Given the description of an element on the screen output the (x, y) to click on. 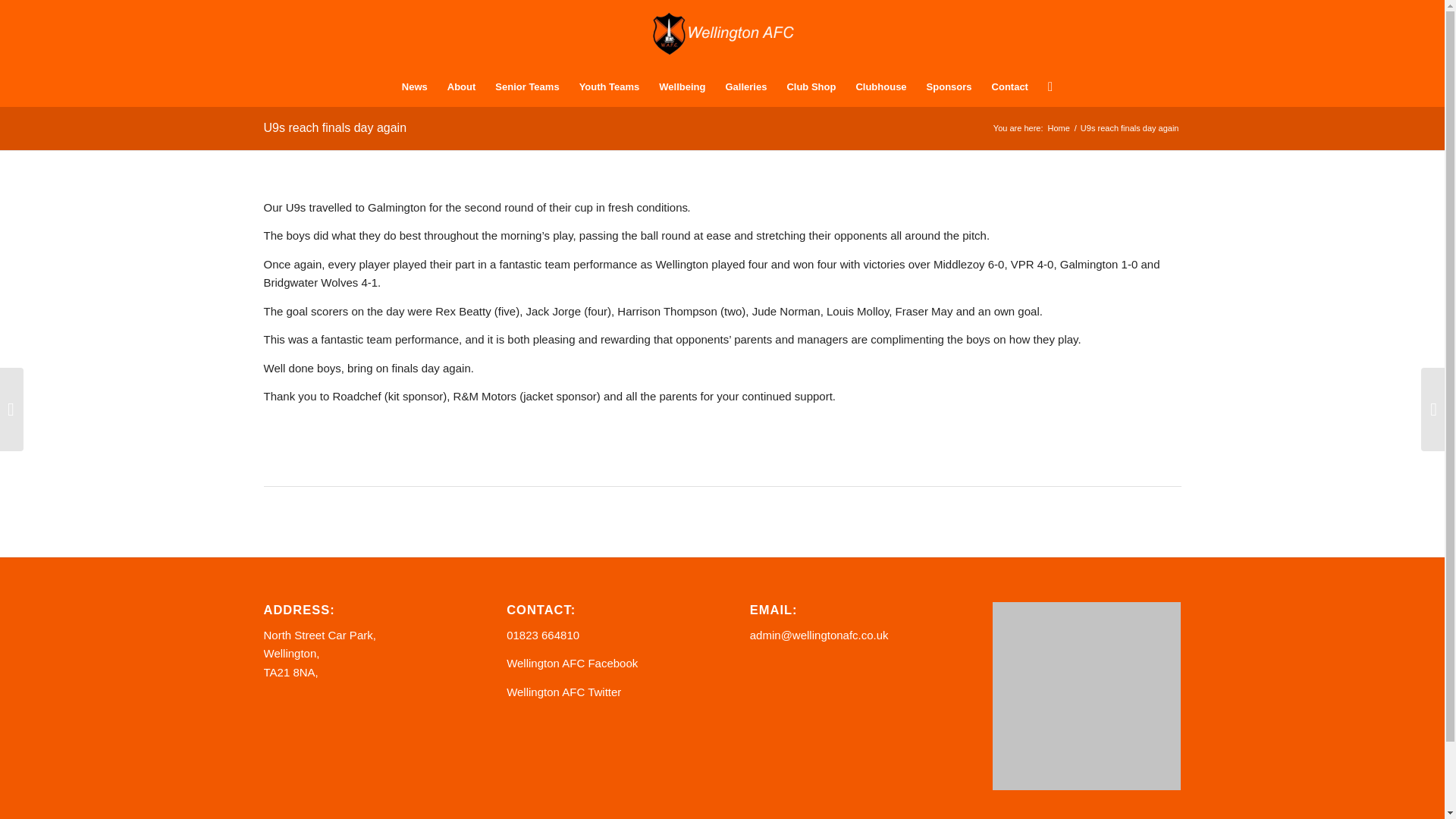
About (462, 86)
U9s reach finals day again (335, 127)
Galleries (745, 86)
News (414, 86)
Clubhouse (880, 86)
Sponsors (949, 86)
Wellington AFC (1058, 128)
Contact (1009, 86)
Senior Teams (526, 86)
Club Shop (810, 86)
Permanent Link: U9s reach finals day again (335, 127)
Youth Teams (609, 86)
Wellbeing (681, 86)
